Given the description of an element on the screen output the (x, y) to click on. 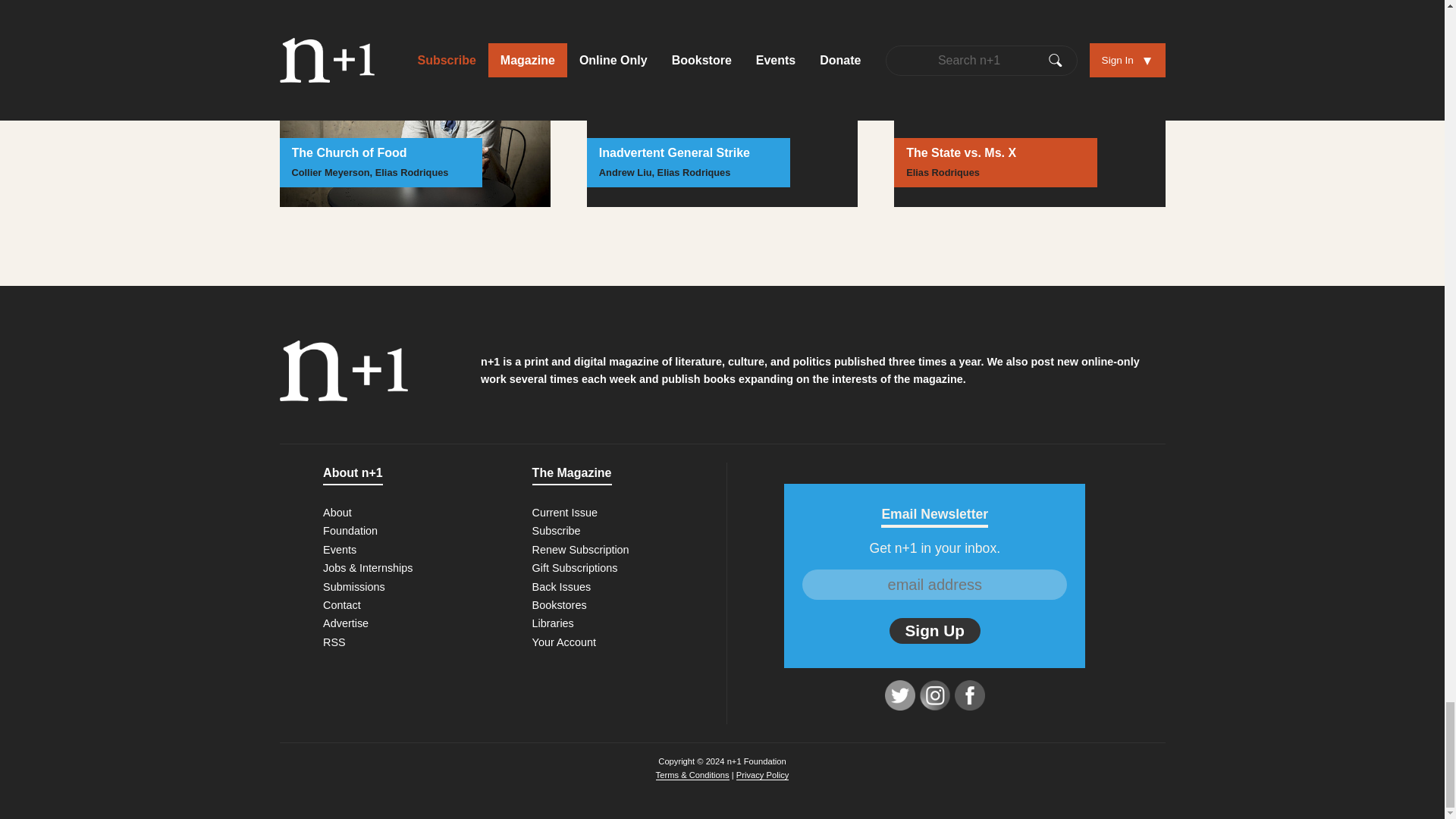
Sign Up (934, 630)
